Given the description of an element on the screen output the (x, y) to click on. 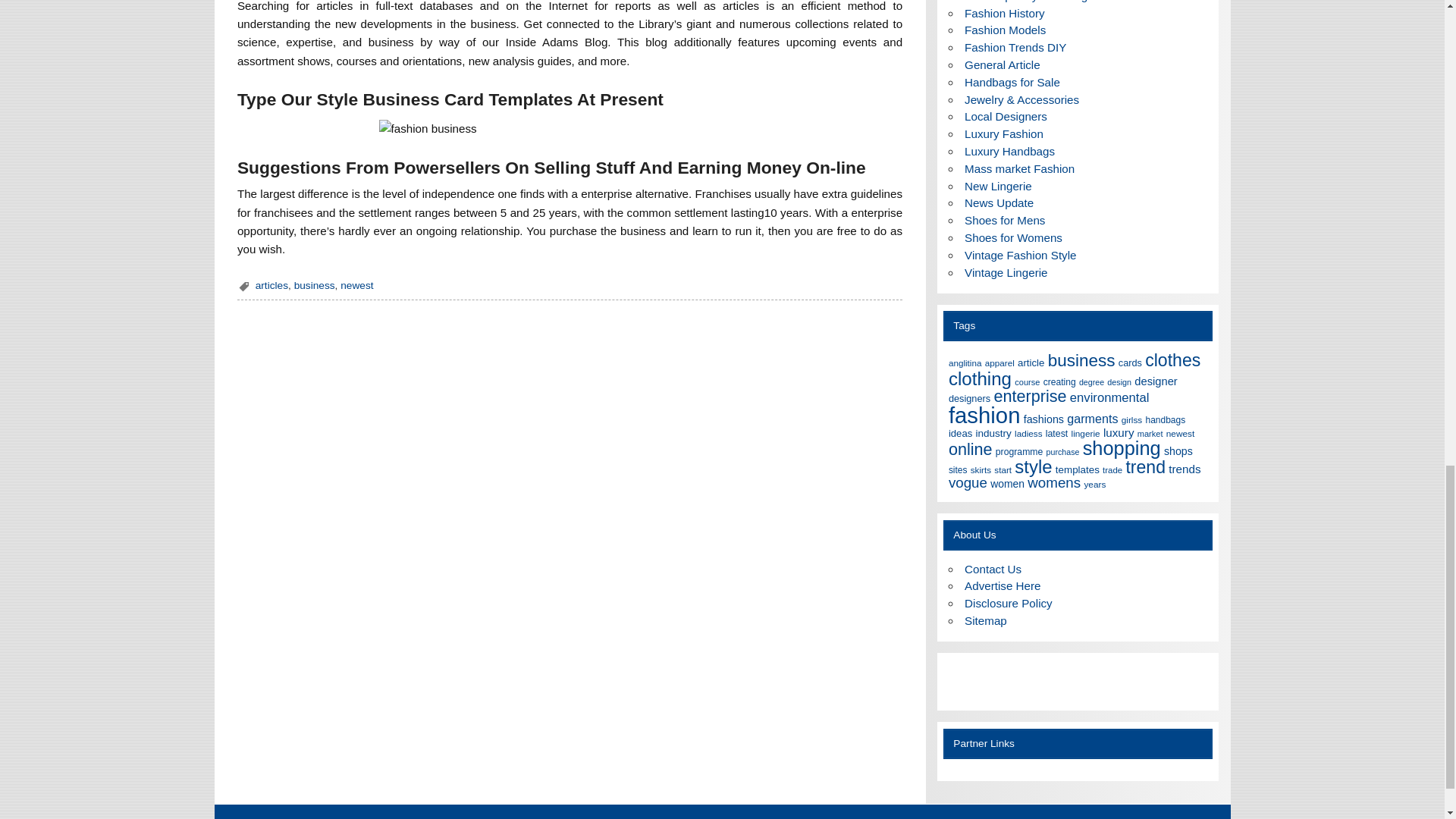
business (314, 285)
articles (272, 285)
newest (356, 285)
